Given the description of an element on the screen output the (x, y) to click on. 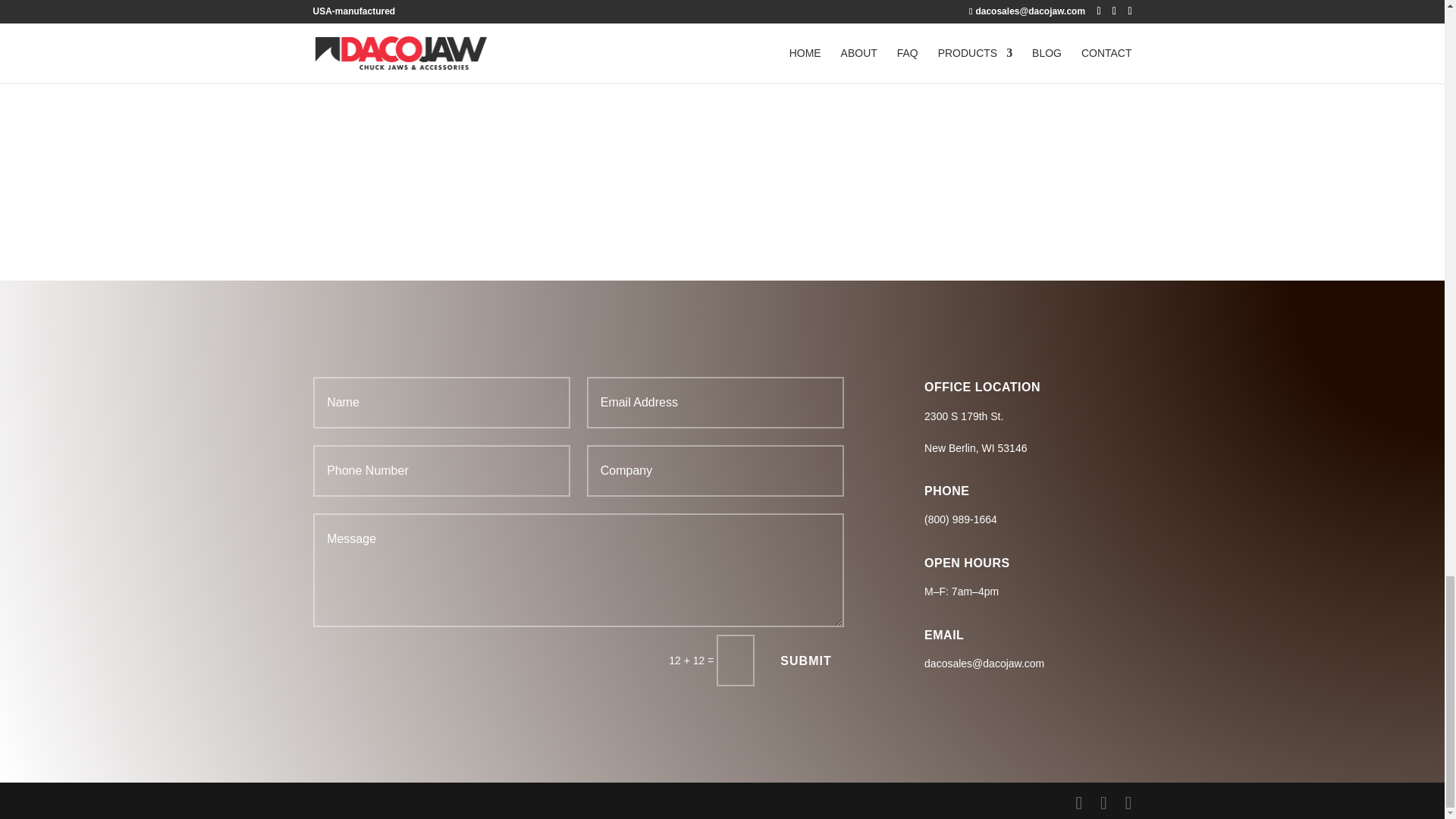
SUBMIT (805, 660)
